Given the description of an element on the screen output the (x, y) to click on. 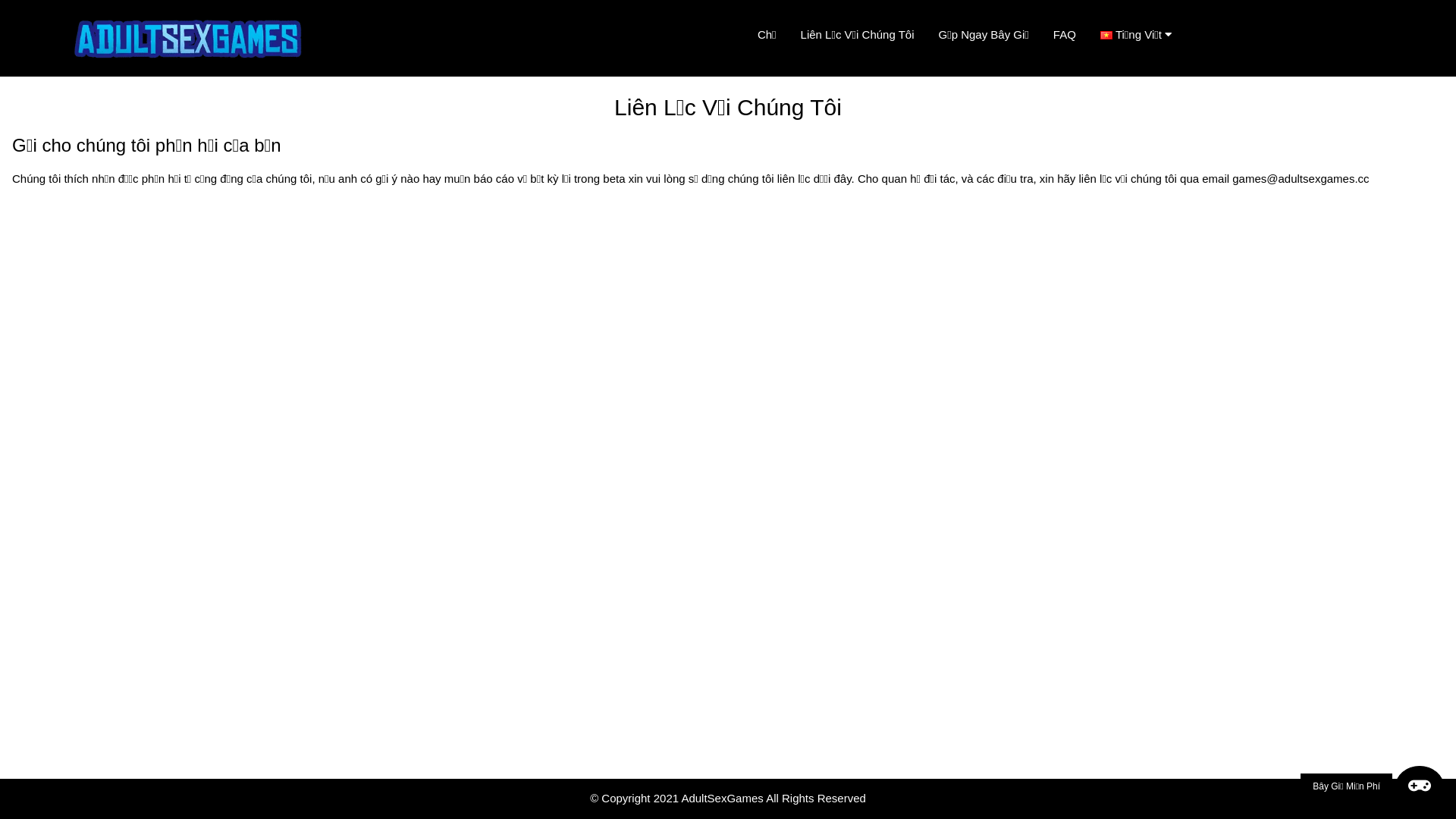
FAQ Element type: text (1064, 35)
